Given the description of an element on the screen output the (x, y) to click on. 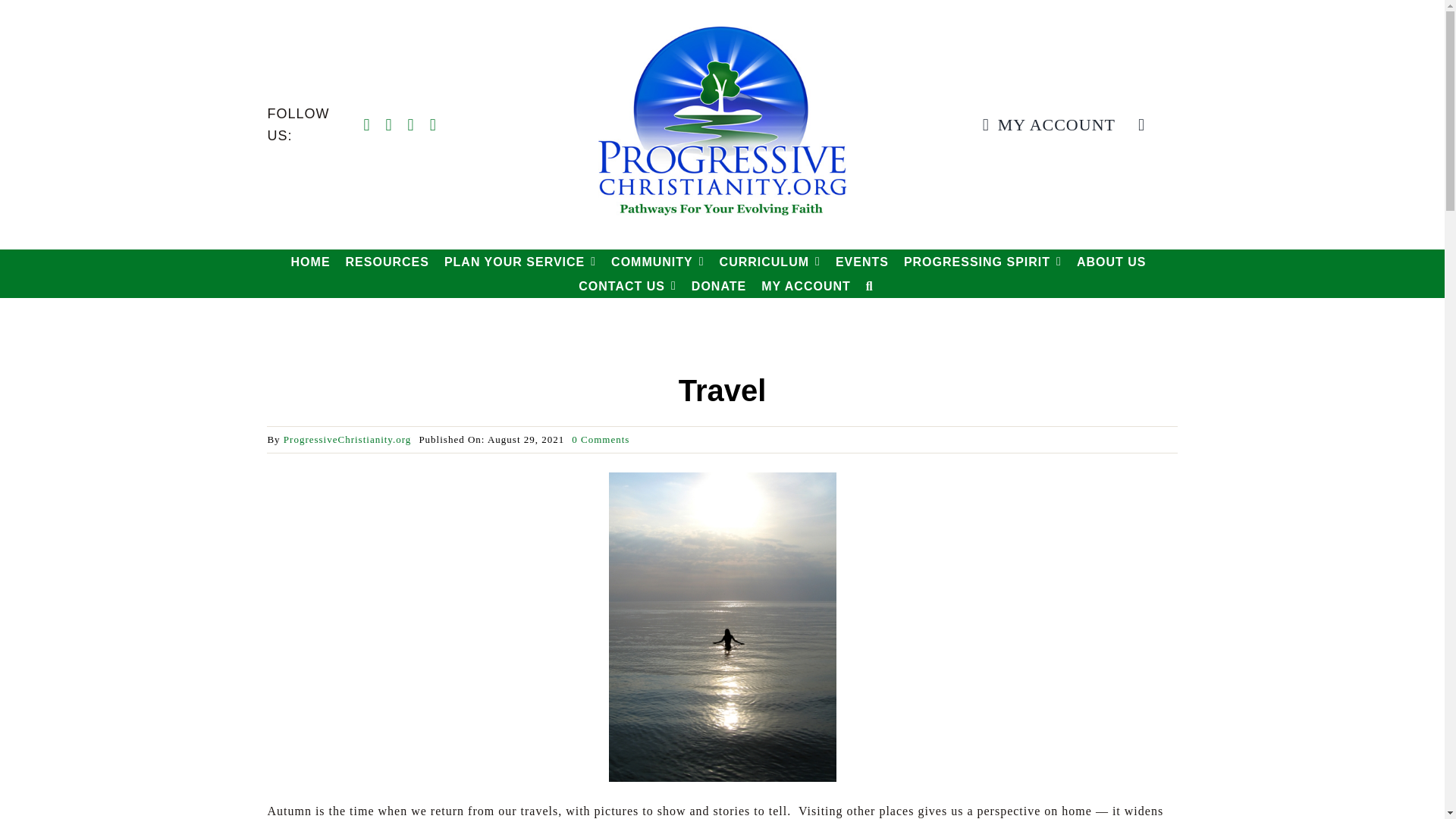
PLAN YOUR SERVICE (519, 261)
PROGRESSING SPIRIT (982, 261)
EVENTS (861, 261)
MY ACCOUNT (1044, 124)
CURRICULUM (770, 261)
RESOURCES (387, 261)
Posts by ProgressiveChristianity.org (347, 439)
COMMUNITY (657, 261)
HOME (310, 261)
